Given the description of an element on the screen output the (x, y) to click on. 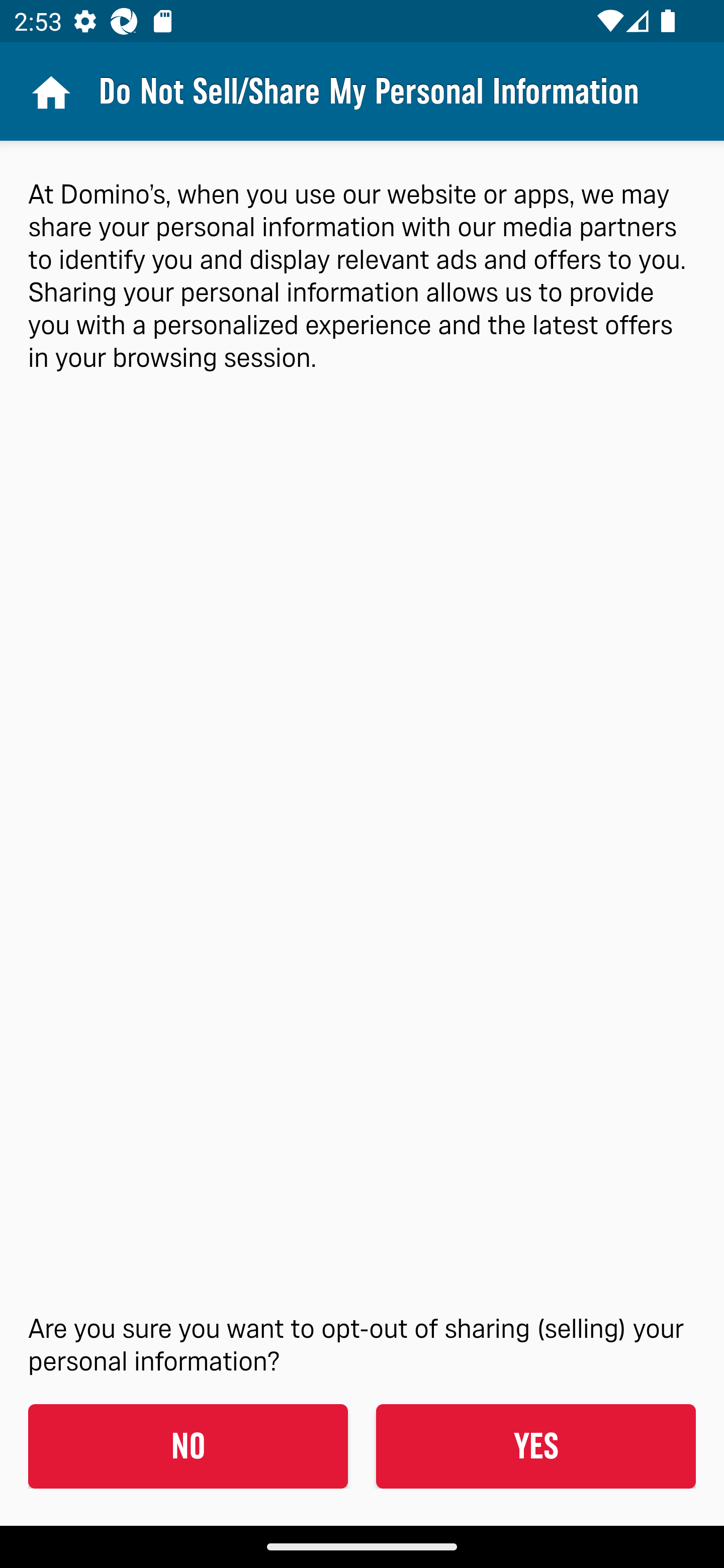
Home (49, 91)
NO (188, 1446)
YES (535, 1446)
